Given the description of an element on the screen output the (x, y) to click on. 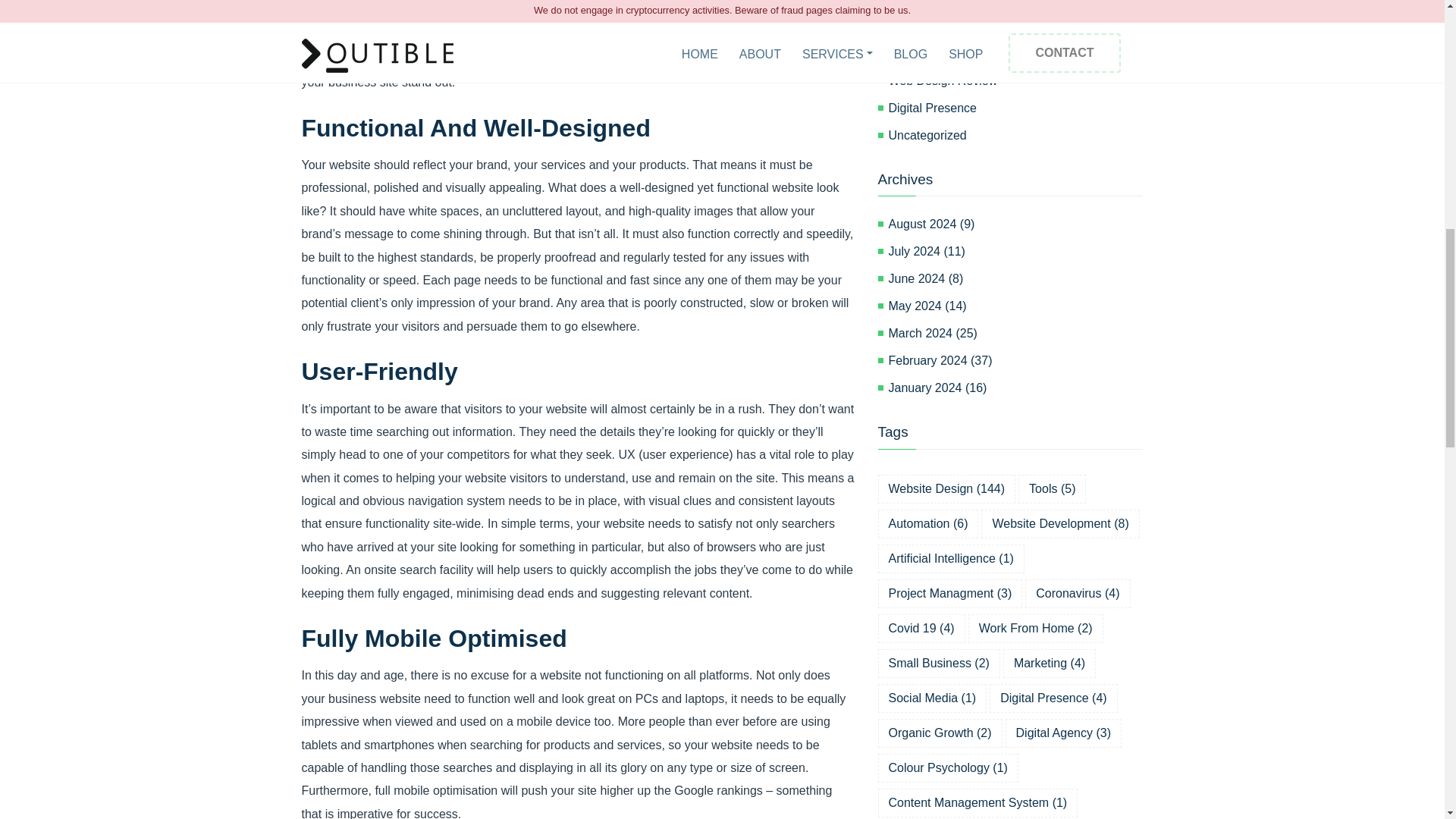
Digital Marketing (1015, 4)
Uncategorized (1015, 135)
App Development (1015, 54)
Website Builders (1015, 26)
Web Design Review (1015, 81)
Digital Presence (1015, 108)
